Given the description of an element on the screen output the (x, y) to click on. 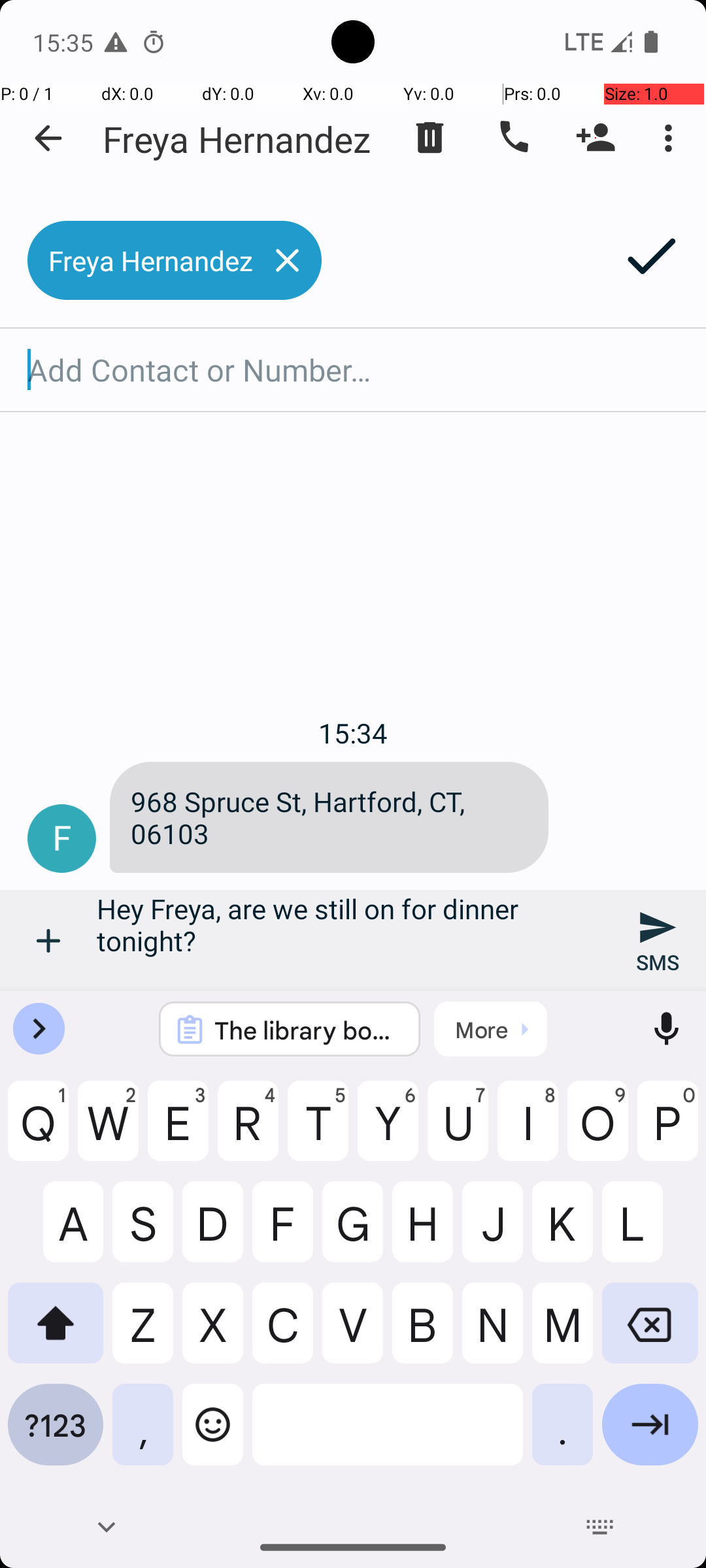
Freya Hernandez Element type: android.widget.TextView (236, 138)
Add Contact or Number… Element type: android.widget.AutoCompleteTextView (352, 369)
Hey Freya, are we still on for dinner tonight?
 Element type: android.widget.EditText (352, 940)
968 Spruce St, Hartford, CT, 06103 Element type: android.widget.TextView (328, 816)
The library book is due back on the 15th. Element type: android.widget.TextView (306, 1029)
